Given the description of an element on the screen output the (x, y) to click on. 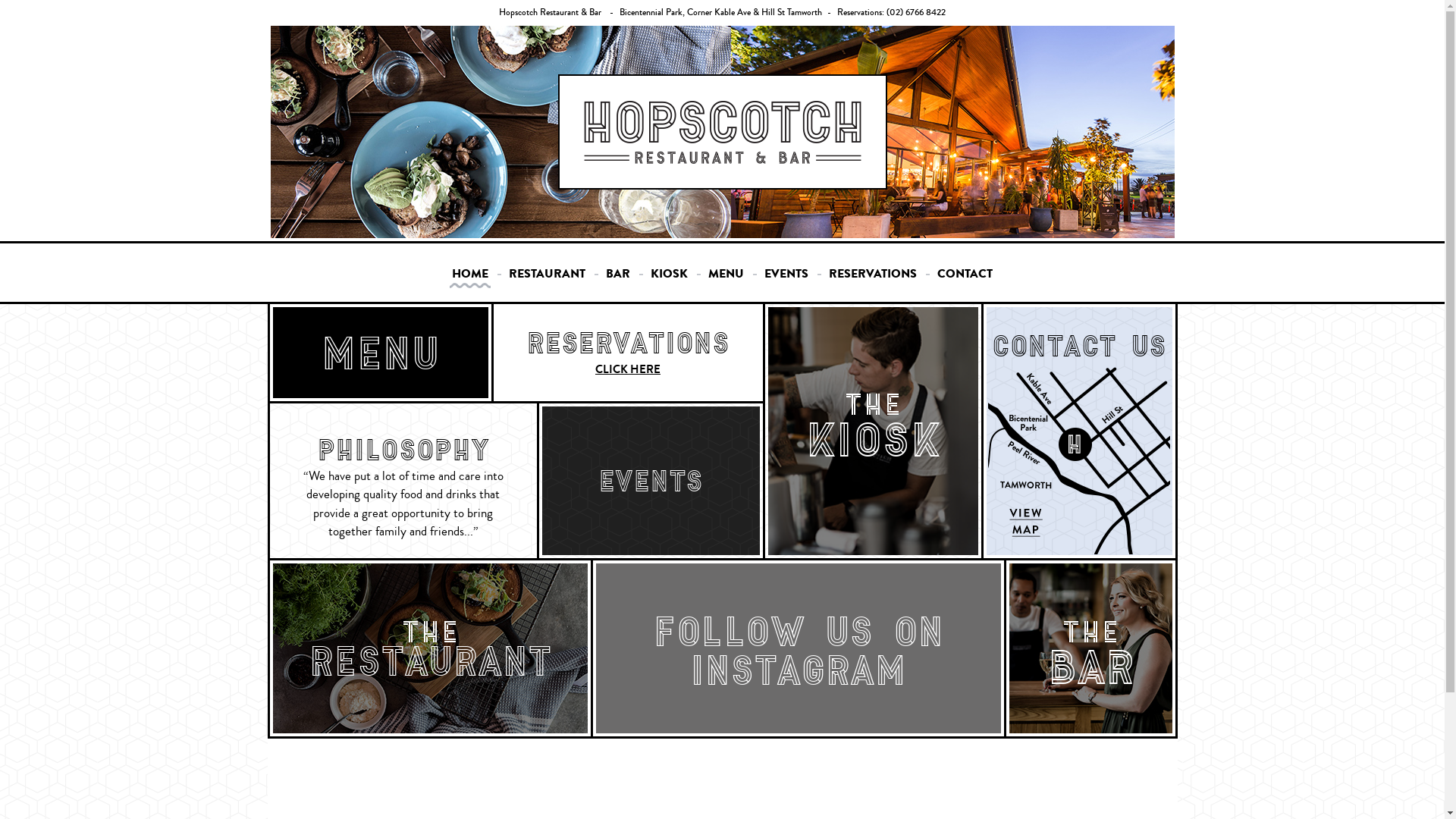
HOME Element type: text (469, 277)
THE
Kiosk Element type: text (872, 431)
FOLLOW US ON
INSTAGRAM Element type: text (798, 640)
Contact Us Element type: text (1078, 387)
EVENTS Element type: text (650, 446)
CONTACT Element type: text (964, 277)
KIOSK Element type: text (669, 277)
THE
Bar Element type: text (1089, 648)
THE
Restaurant Element type: text (430, 648)
Menu Element type: text (380, 352)
RESTAURANT Element type: text (546, 277)
RESERVATIONS Element type: text (872, 277)
Reservations
CLICK HERE Element type: text (627, 352)
BAR Element type: text (617, 277)
MENU Element type: text (726, 277)
EVENTS Element type: text (786, 277)
